Given the description of an element on the screen output the (x, y) to click on. 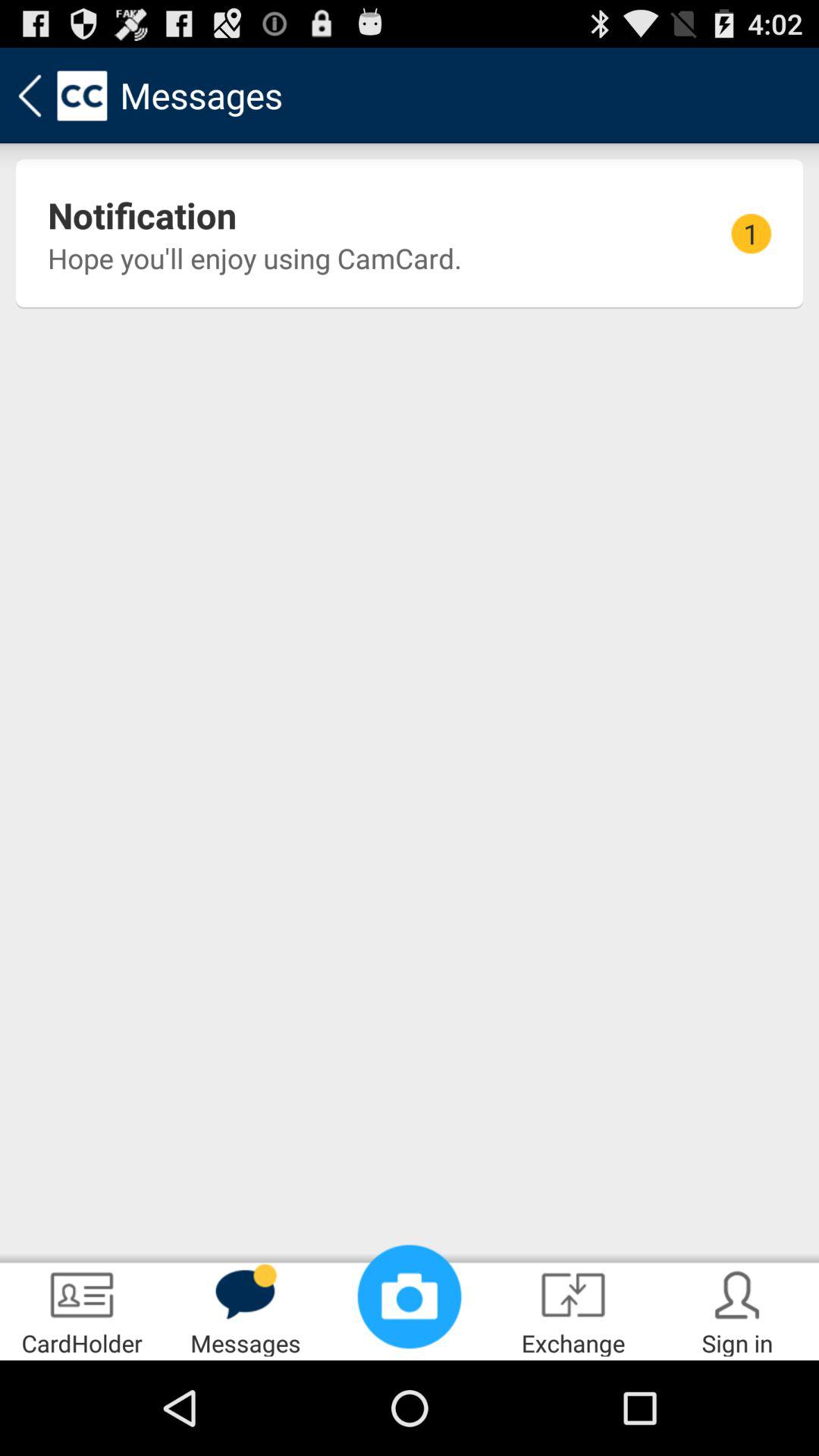
flip to 1 icon (751, 233)
